Given the description of an element on the screen output the (x, y) to click on. 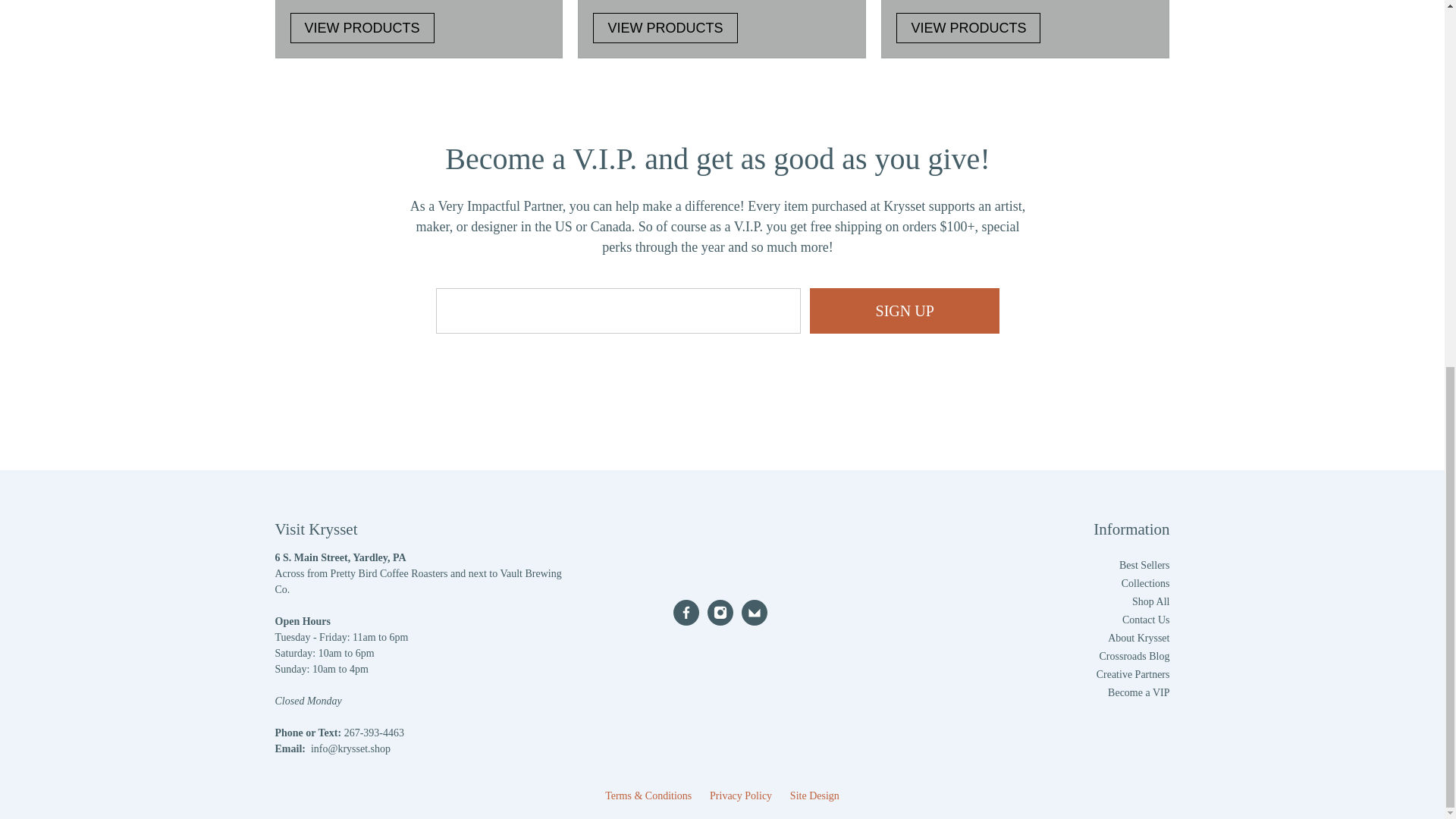
Email Krysset Shop (754, 612)
Krysset Shop (721, 490)
VIEW PRODUCTS (418, 29)
VIEW PRODUCTS (664, 28)
VIEW PRODUCTS (361, 28)
Krysset Shop on Instagram (968, 28)
SIGN UP (720, 612)
Krysset Shop on Facebook (903, 310)
Best Sellers (685, 612)
